Given the description of an element on the screen output the (x, y) to click on. 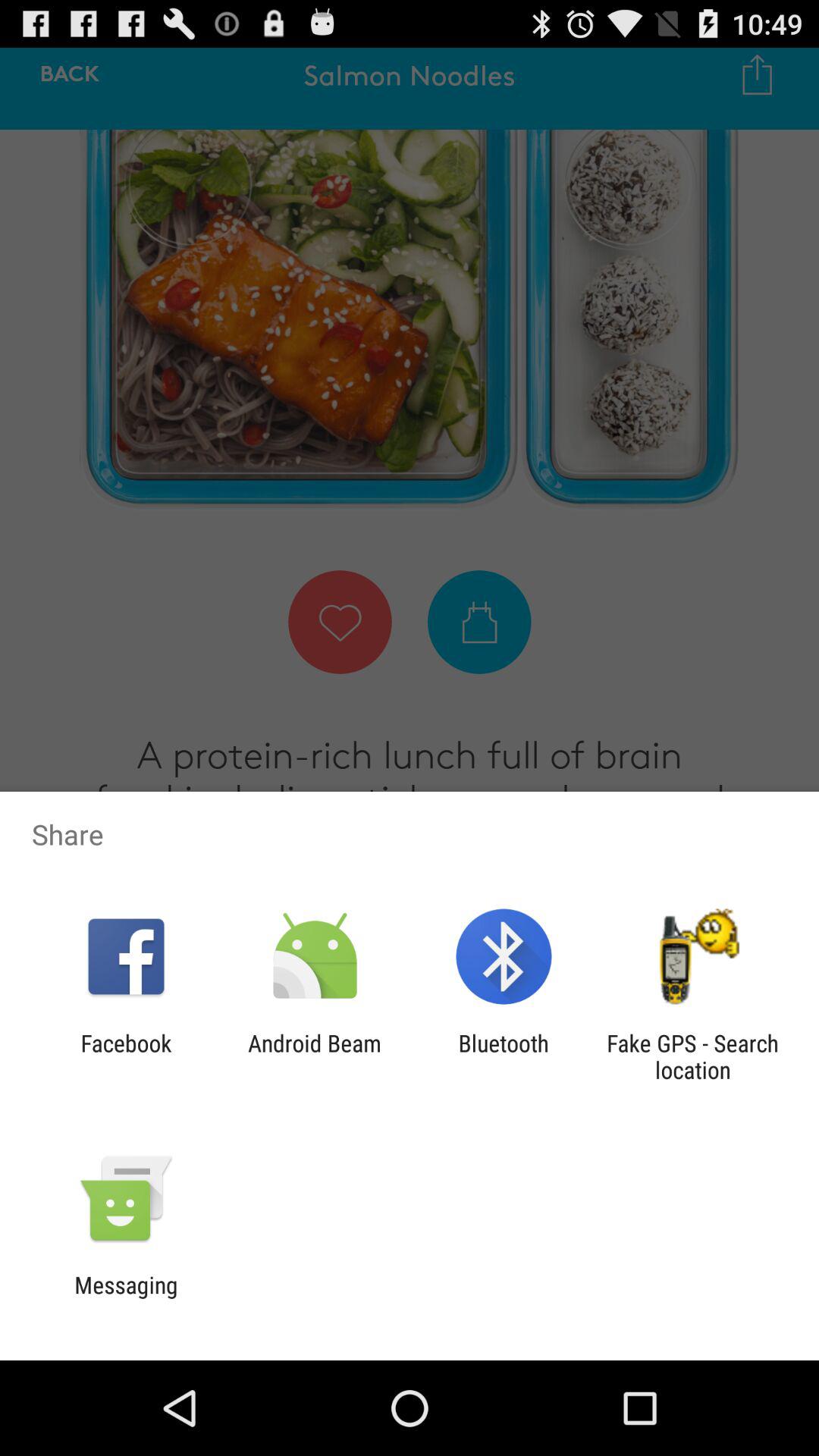
launch fake gps search item (692, 1056)
